Given the description of an element on the screen output the (x, y) to click on. 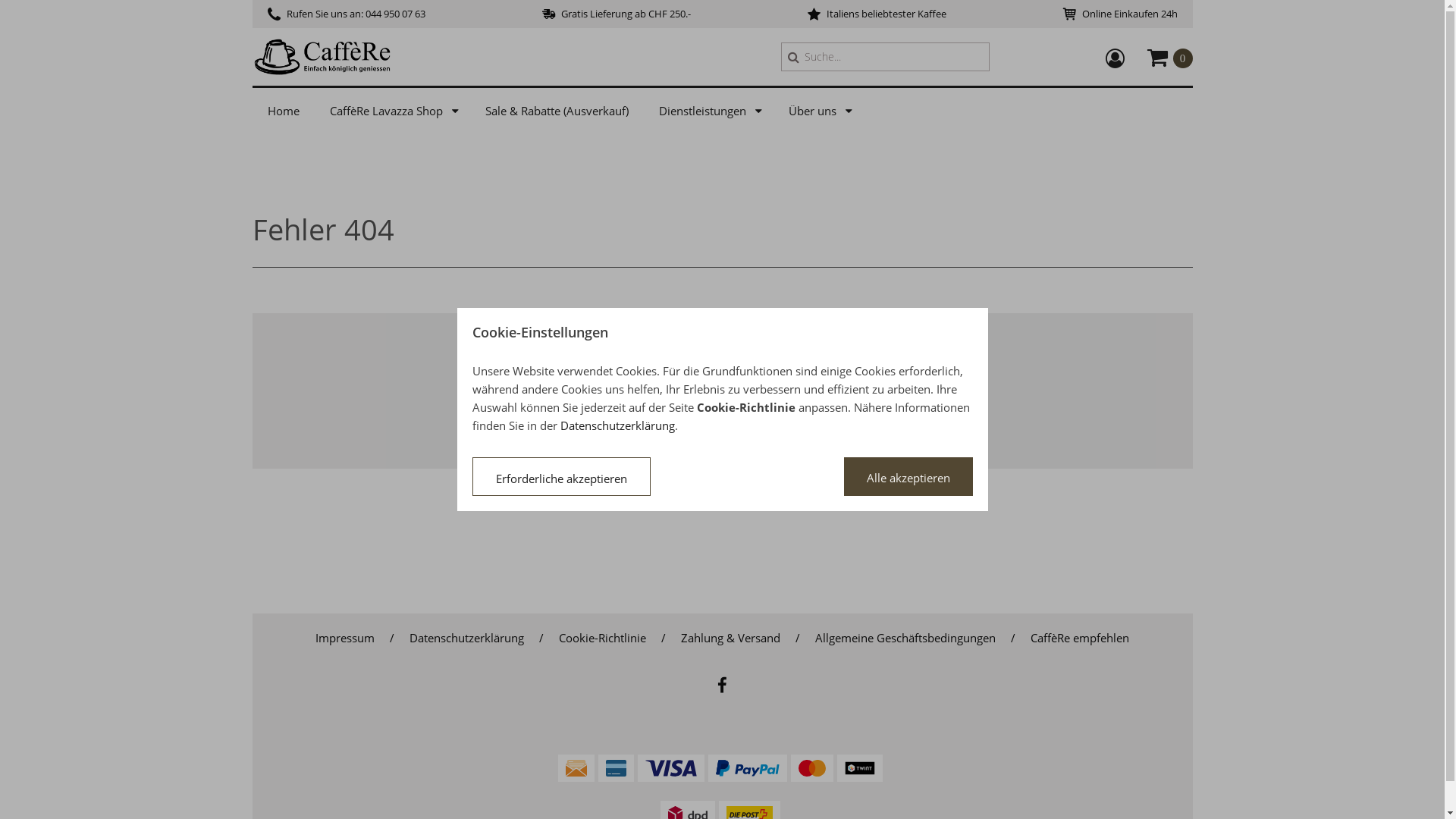
Zahlung & Versand Element type: text (730, 636)
MasterCard Element type: hover (811, 767)
Vorkasse Element type: hover (616, 767)
Sale & Rabatte (Ausverkauf) Element type: text (556, 110)
Alle akzeptieren Element type: text (907, 476)
Twint Element type: hover (859, 767)
Cookie-Richtlinie Element type: text (602, 636)
Impressum Element type: text (344, 636)
PayPal Element type: hover (747, 767)
Home Element type: text (282, 110)
Suche Element type: text (793, 56)
Erforderliche akzeptieren Element type: text (560, 476)
Visa Element type: hover (670, 767)
Warenkorb anzeigen. Sie haben 0 Artikel im Warenkorb.
0 Element type: text (1169, 56)
Rechnung Element type: hover (575, 767)
Dienstleistungen Element type: text (707, 110)
